Given the description of an element on the screen output the (x, y) to click on. 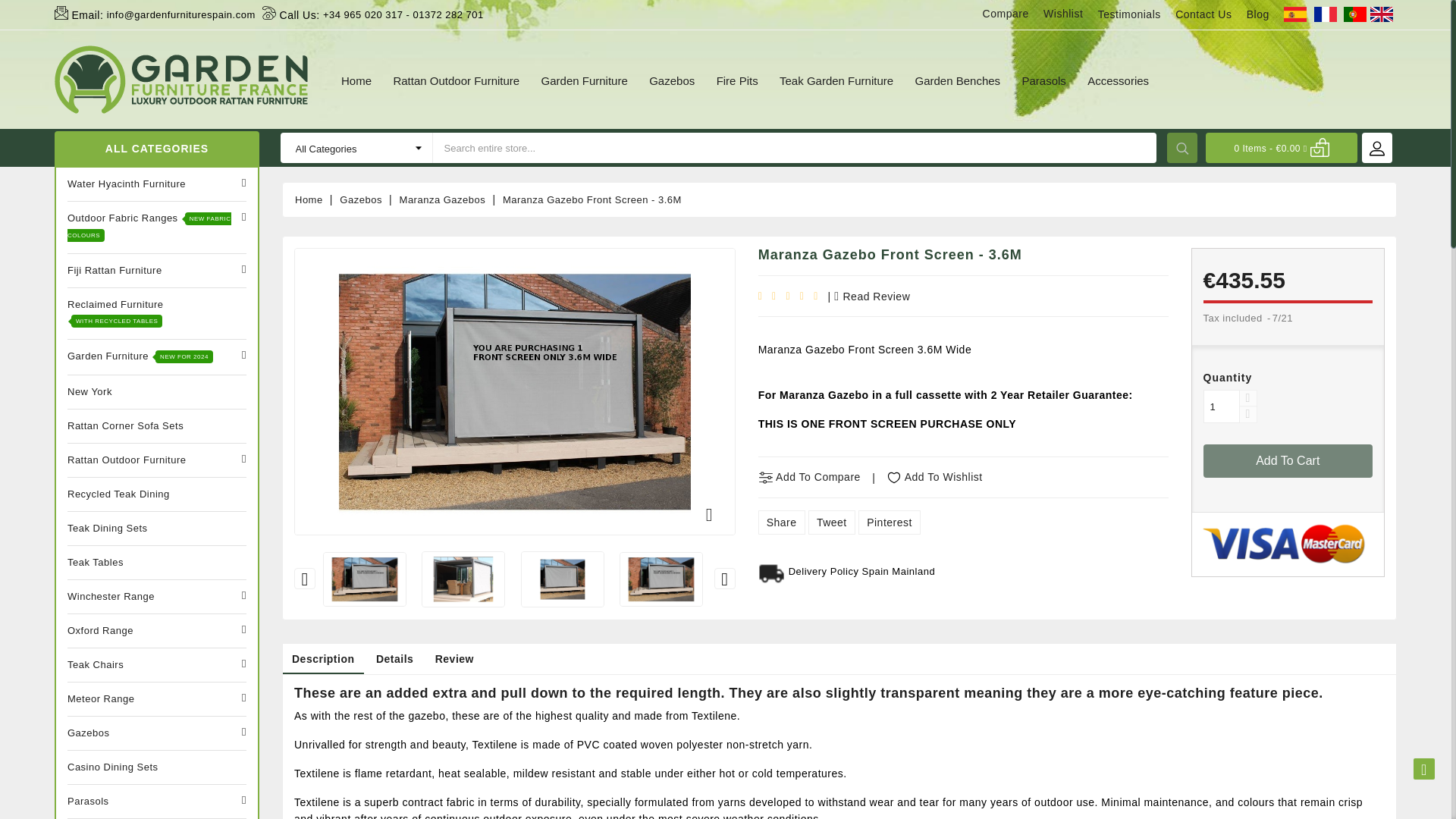
spain (1295, 14)
Share (781, 522)
Compare (1005, 13)
Galaxy Gazebo Side Screens 3 X 3.6M (463, 579)
Add to Wishlist (935, 476)
Rattan Outdoor Furniture (456, 80)
Add to Compare (809, 476)
Tweet (832, 522)
Home (355, 80)
Contact Us (1202, 14)
Wishlist (1063, 13)
portugal (1355, 14)
1 (1222, 406)
Testimonials (1128, 14)
Pinterest (889, 522)
